Given the description of an element on the screen output the (x, y) to click on. 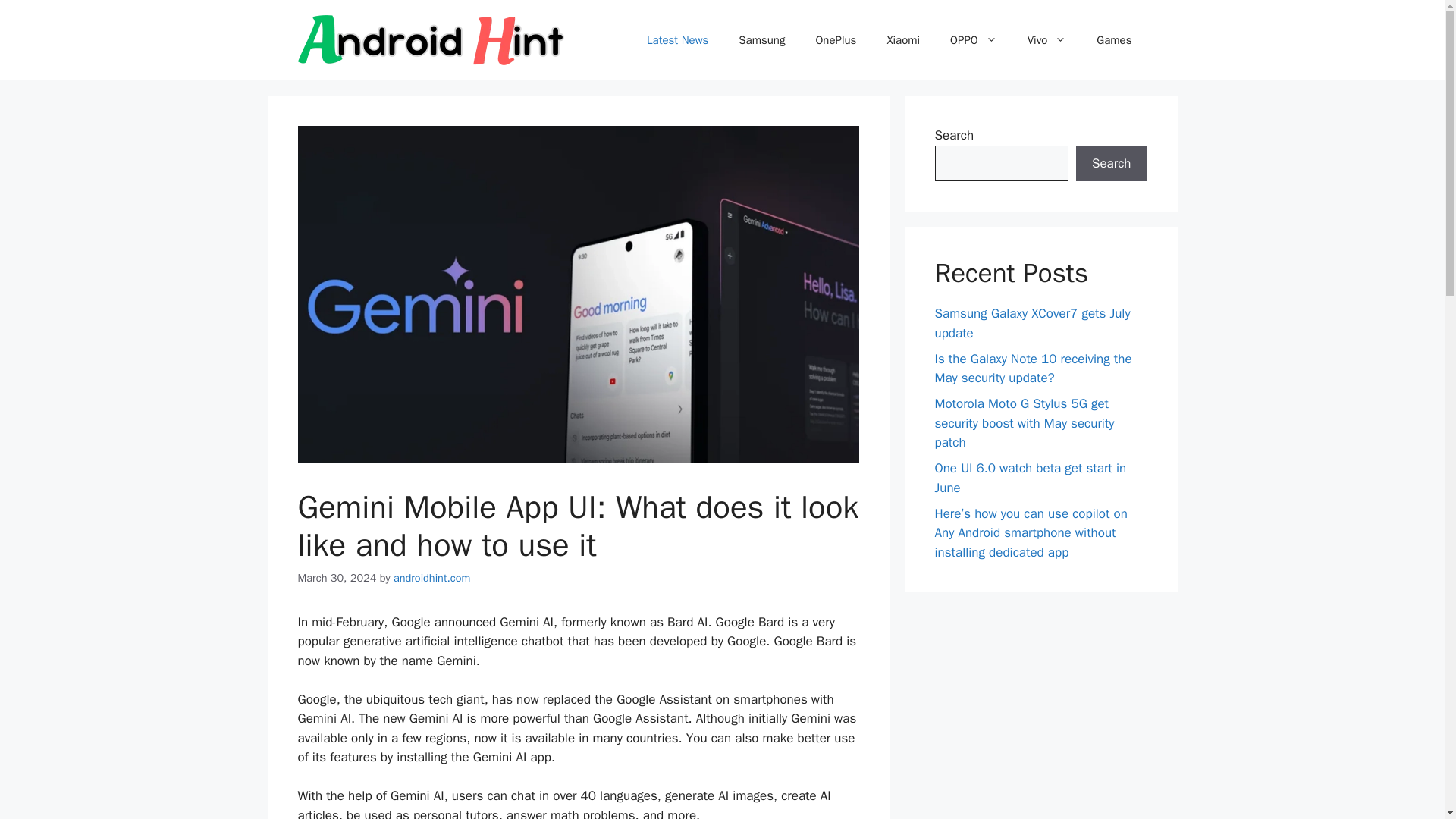
androidhint.com (431, 577)
One UI 6.0 watch beta get start in June (1029, 478)
Search (1111, 163)
Samsung Galaxy XCover7 gets July update (1031, 323)
Xiaomi (902, 40)
View all posts by androidhint.com (431, 577)
Games (1114, 40)
Samsung (761, 40)
OPPO (972, 40)
Vivo (1046, 40)
Is the Galaxy Note 10 receiving the May security update? (1032, 367)
OnePlus (834, 40)
Latest News (677, 40)
